Given the description of an element on the screen output the (x, y) to click on. 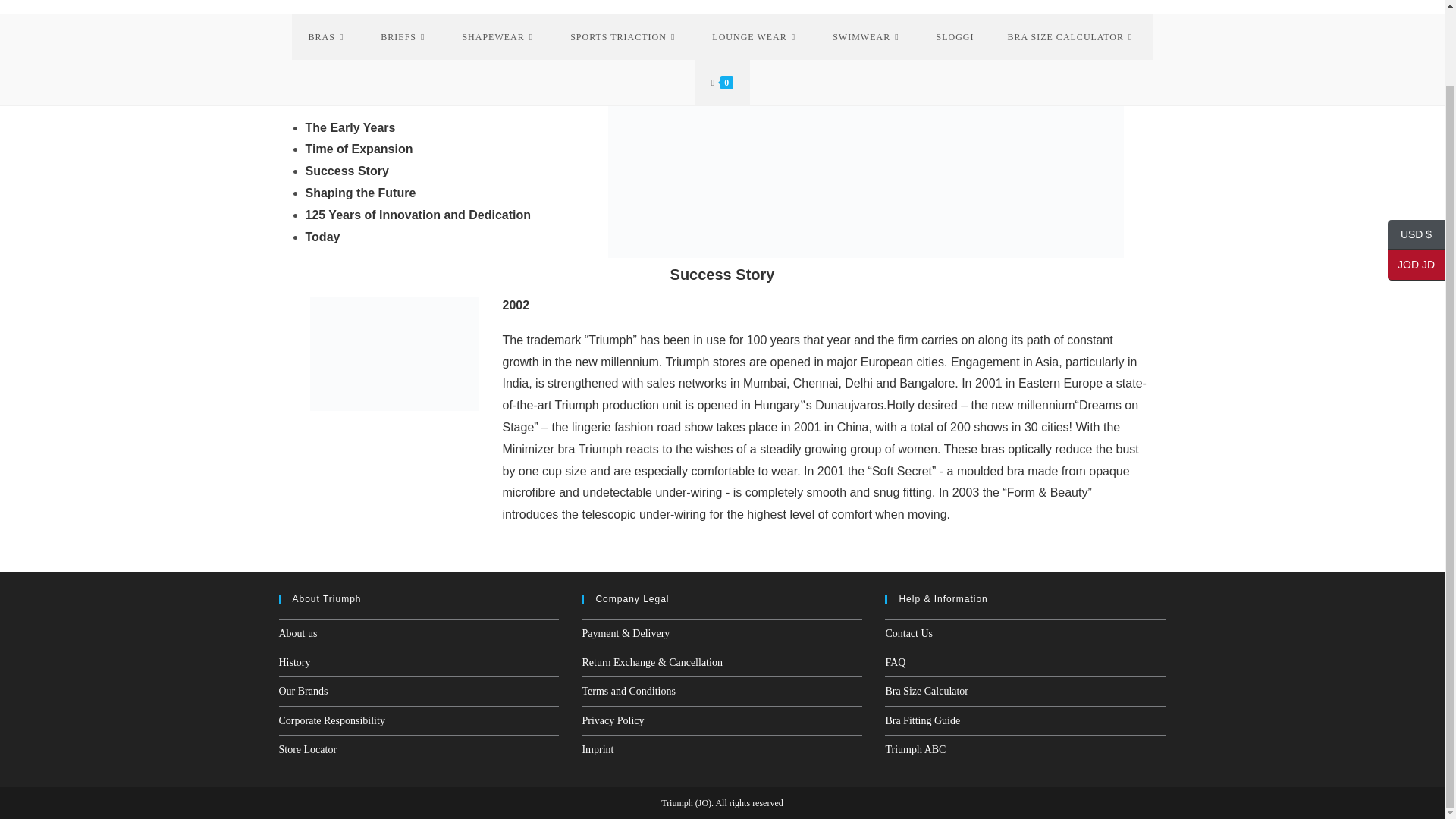
SWIMWEAR (866, 36)
Shapewear (499, 36)
SLOGGI (955, 36)
0 (721, 82)
SHAPEWEAR (499, 36)
SPORTS TRIACTION (624, 36)
Briefs (404, 36)
Sports Triaction (624, 36)
LOUNGE WEAR (755, 36)
BRA SIZE CALCULATOR (1072, 36)
